Given the description of an element on the screen output the (x, y) to click on. 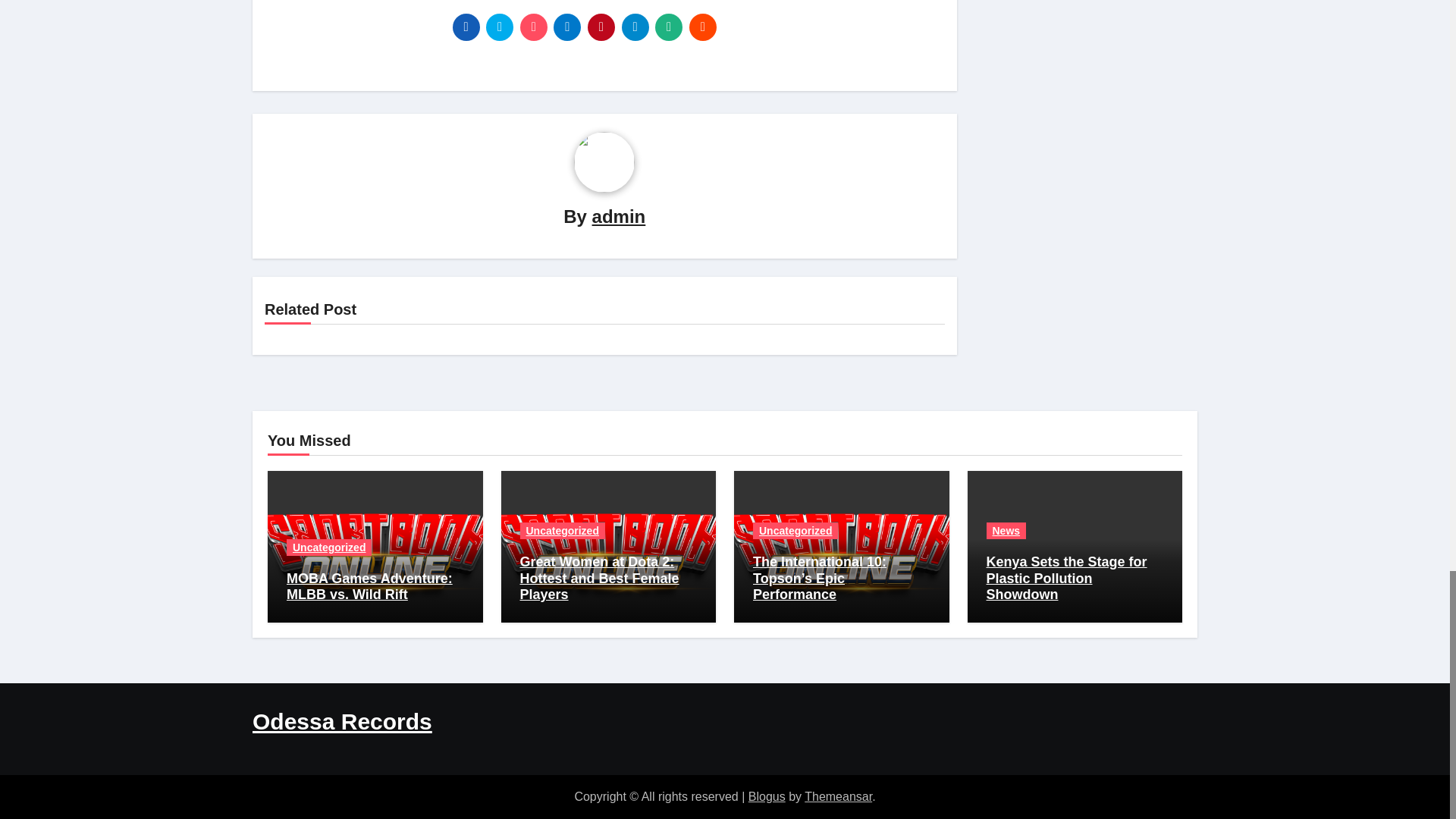
Permalink to: MOBA Games Adventure: MLBB vs. Wild Rift (369, 586)
admin (619, 216)
